Given the description of an element on the screen output the (x, y) to click on. 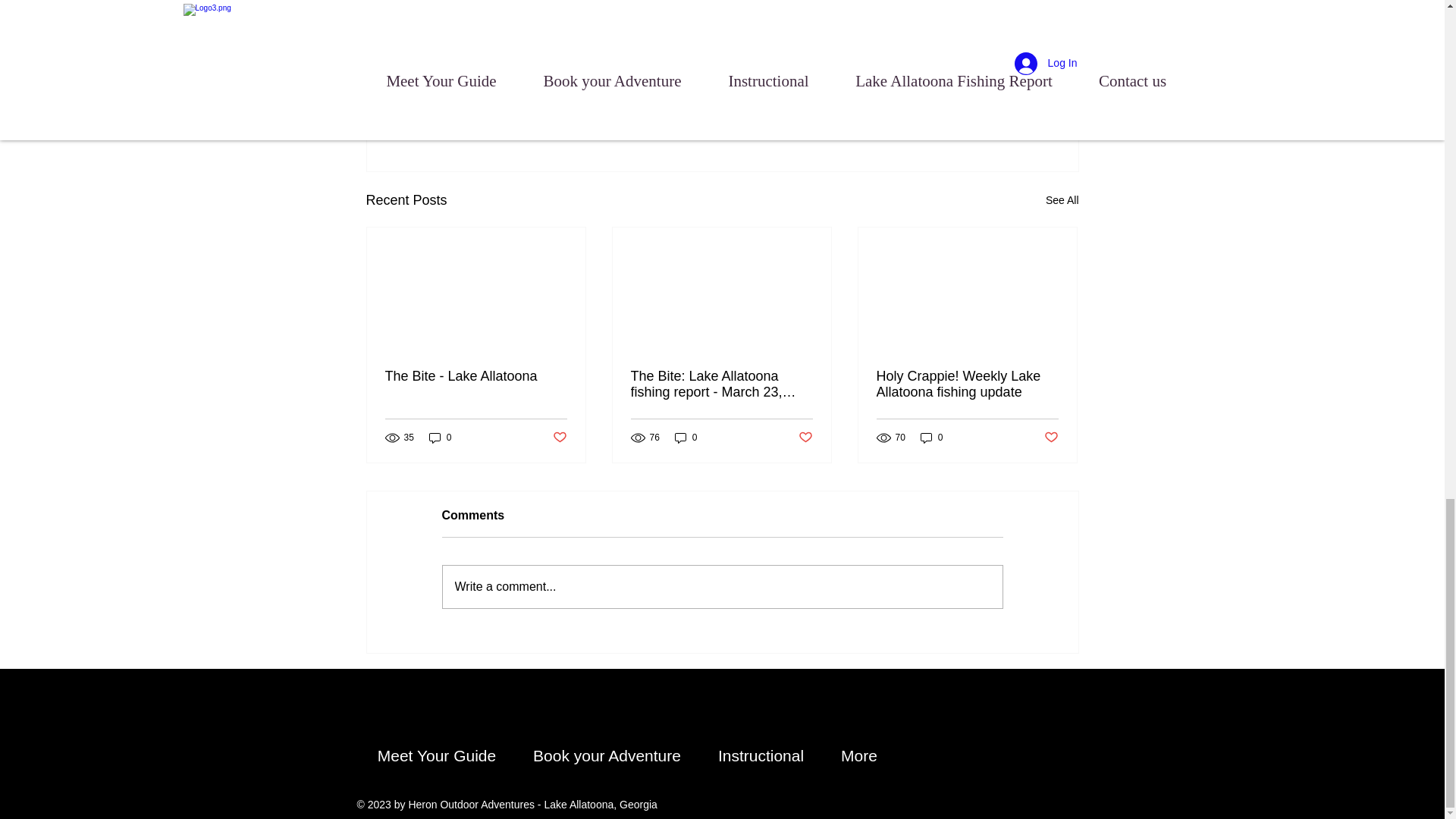
Write a comment... (722, 586)
0 (931, 436)
Book your Adventure (605, 749)
The Bite - Lake Allatoona (476, 376)
Post not marked as liked (558, 437)
Post not marked as liked (804, 437)
0 (440, 436)
0 (685, 436)
The Bite: Lake Allatoona fishing report - March 23, 2024 (721, 384)
Post not marked as liked (1050, 437)
Meet Your Guide (437, 749)
See All (990, 117)
Holy Crappie! Weekly Lake Allatoona fishing update (1061, 200)
